Given the description of an element on the screen output the (x, y) to click on. 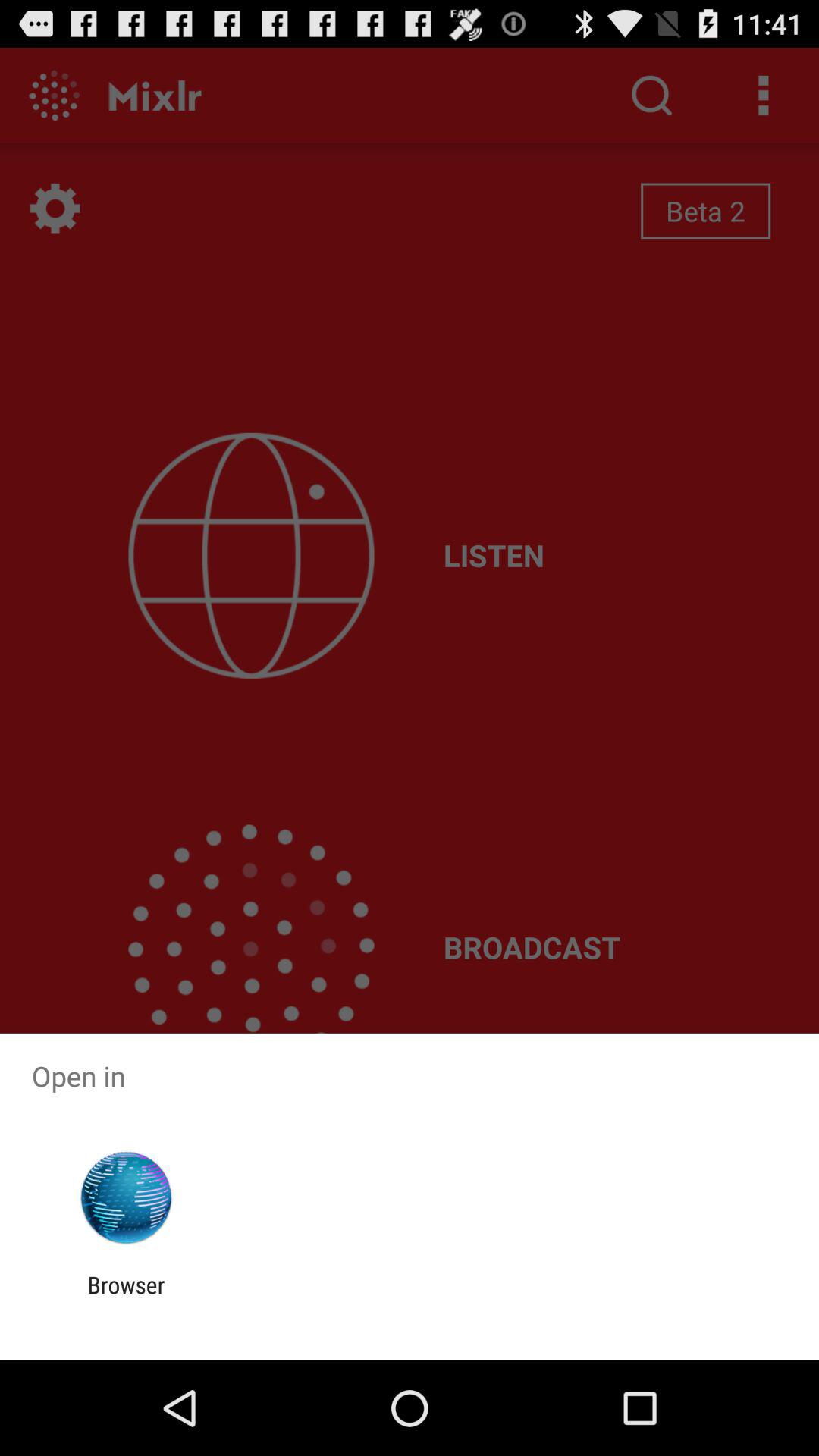
tap browser (125, 1298)
